Given the description of an element on the screen output the (x, y) to click on. 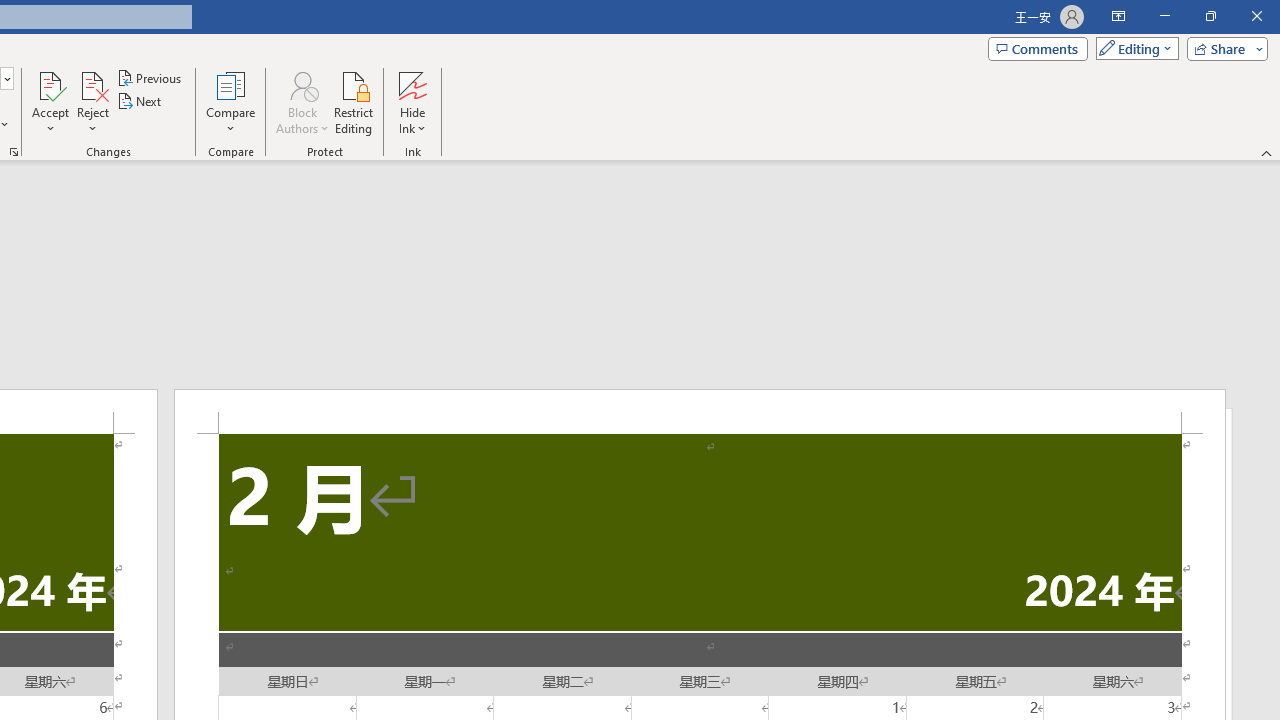
Previous (150, 78)
Hide Ink (412, 102)
Hide Ink (412, 84)
Accept and Move to Next (50, 84)
Compare (230, 102)
Restrict Editing (353, 102)
Accept (50, 102)
Block Authors (302, 84)
